Given the description of an element on the screen output the (x, y) to click on. 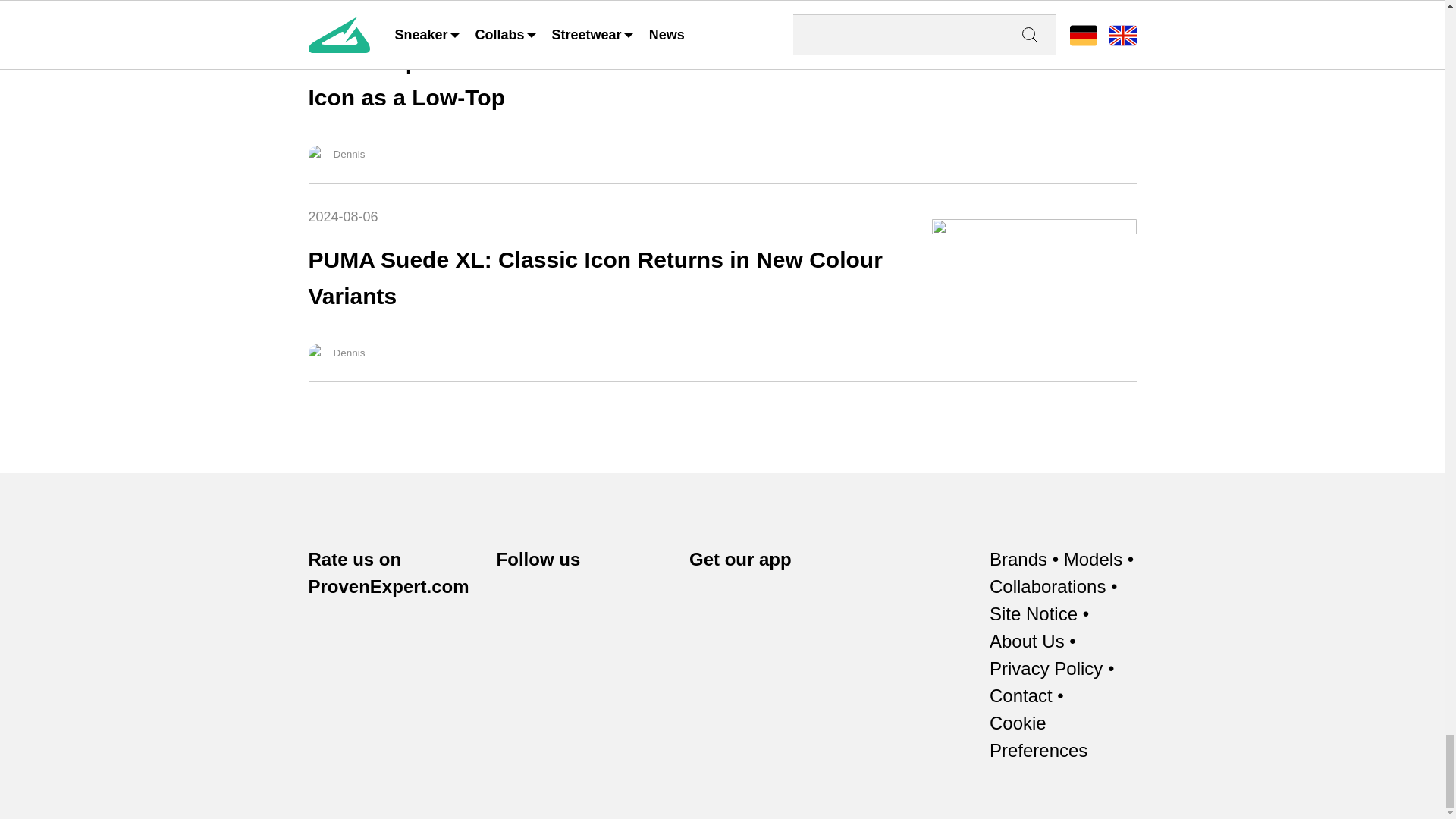
Site Notice (1033, 614)
Cookie Preferences (1063, 737)
About Us (1027, 641)
Dennis (316, 352)
Privacy Policy (1046, 668)
Contact (1021, 696)
Models (1093, 559)
Dennis (316, 154)
Collaborations (1047, 586)
Brands (1018, 559)
